Given the description of an element on the screen output the (x, y) to click on. 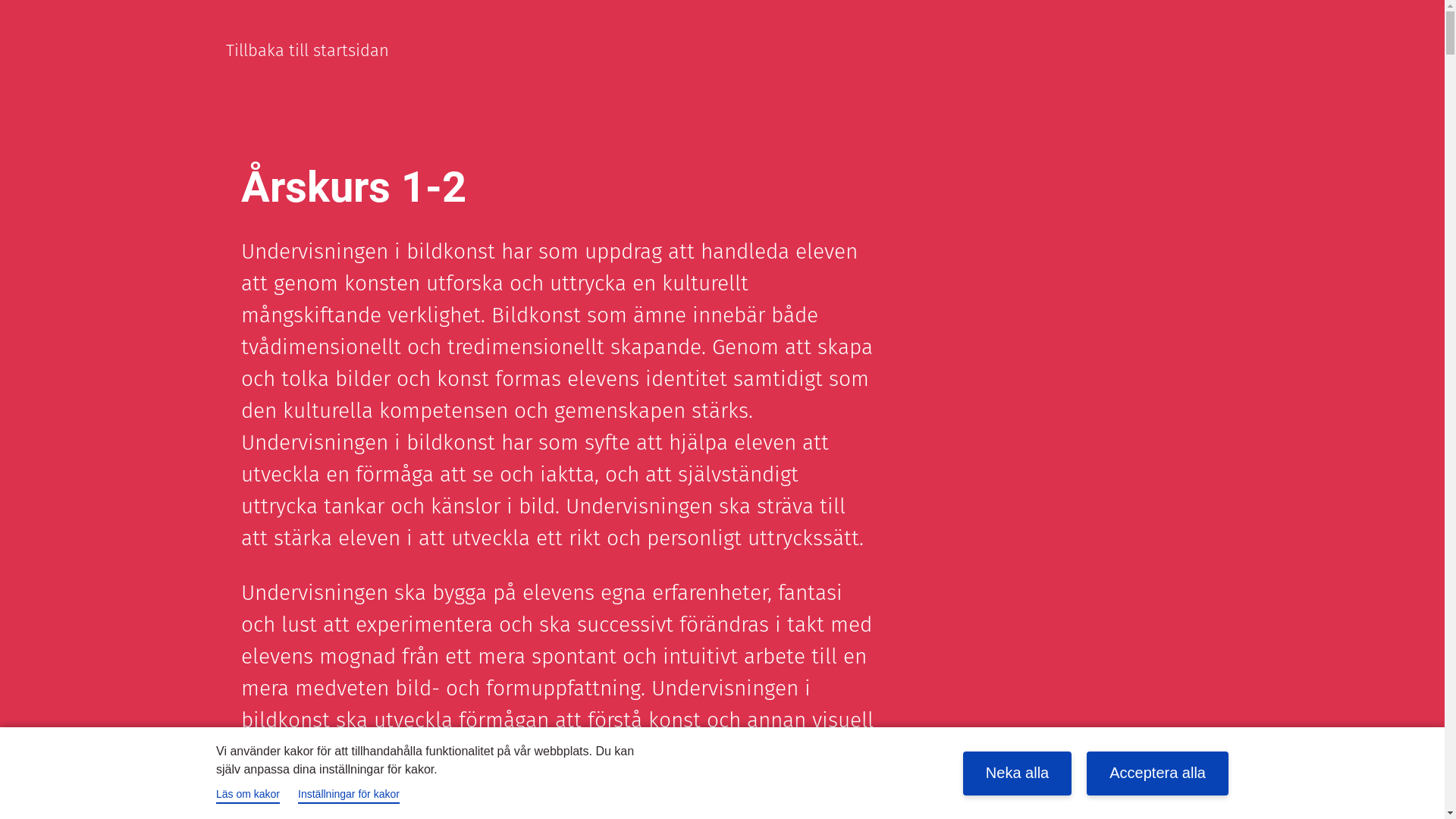
Tillbaka till startsidan Element type: text (307, 50)
Acceptera alla Element type: text (1157, 772)
Menu Element type: hover (1211, 49)
Neka alla Element type: text (1017, 772)
